Given the description of an element on the screen output the (x, y) to click on. 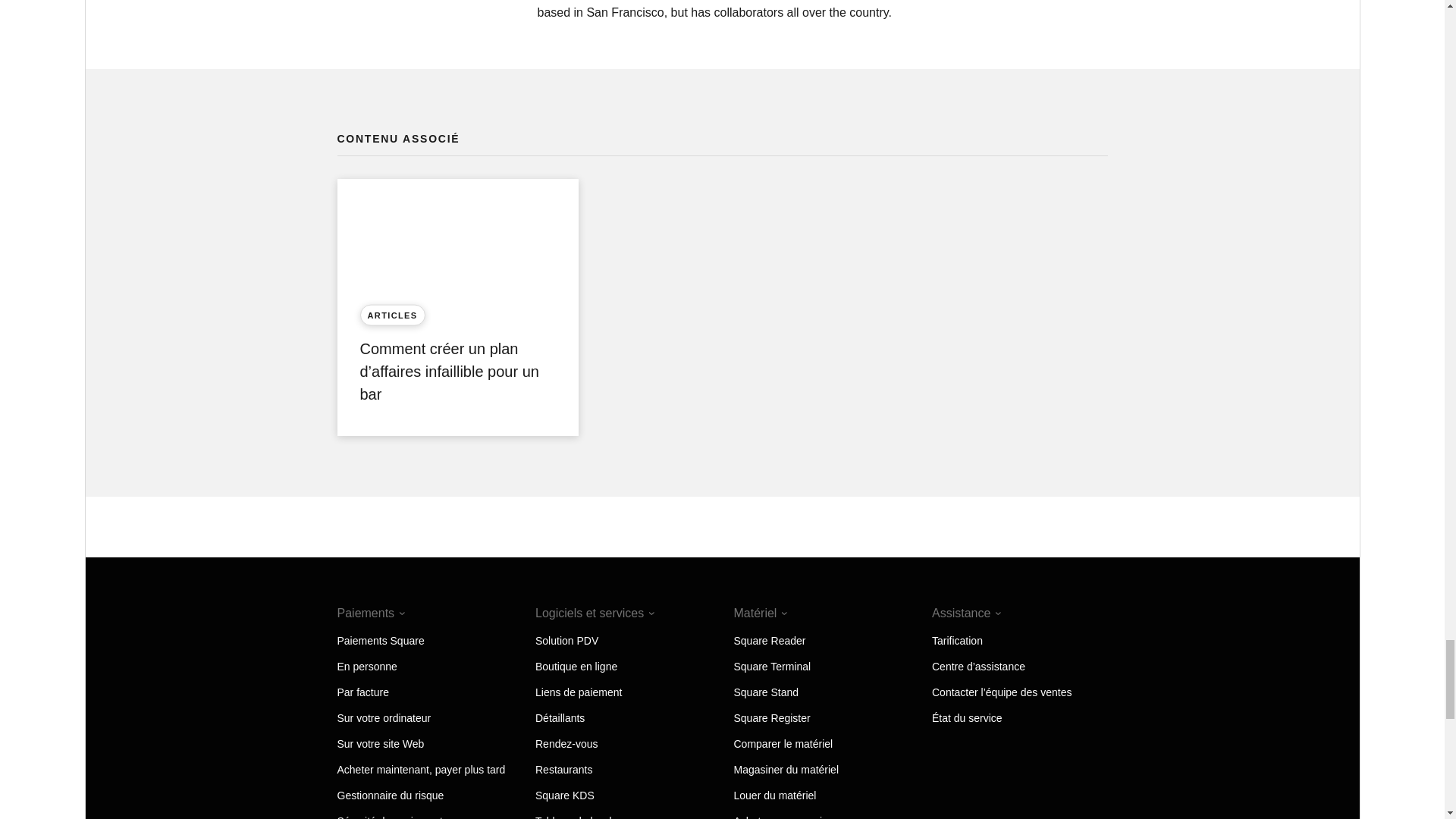
Par facture (362, 692)
Gestionnaire du risque (390, 795)
Sur votre site Web (379, 743)
En personne (366, 666)
Acheter maintenant, payer plus tard (420, 769)
Paiements Square (379, 640)
Paiements (370, 612)
Sur votre ordinateur (383, 717)
